Given the description of an element on the screen output the (x, y) to click on. 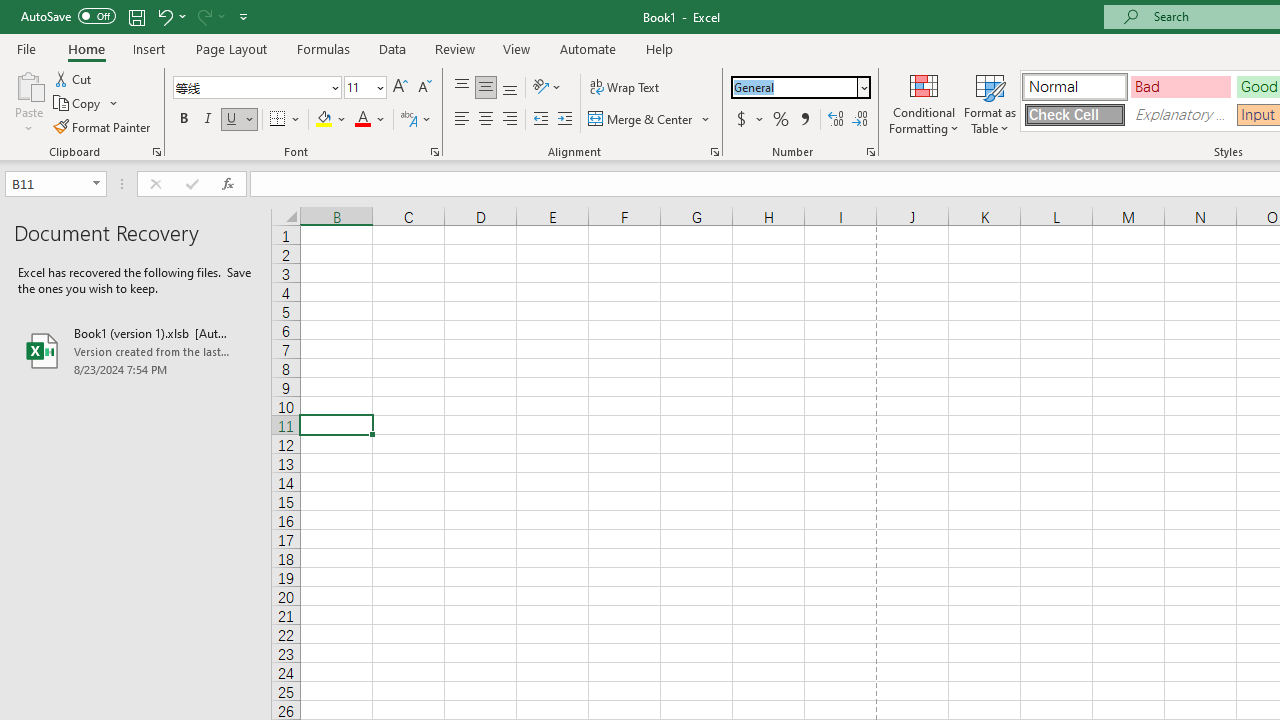
Fill Color (331, 119)
Accounting Number Format (741, 119)
Format Cell Alignment (714, 151)
Accounting Number Format (749, 119)
Percent Style (781, 119)
Merge & Center (649, 119)
Center (485, 119)
Format Cell Number (870, 151)
